Given the description of an element on the screen output the (x, y) to click on. 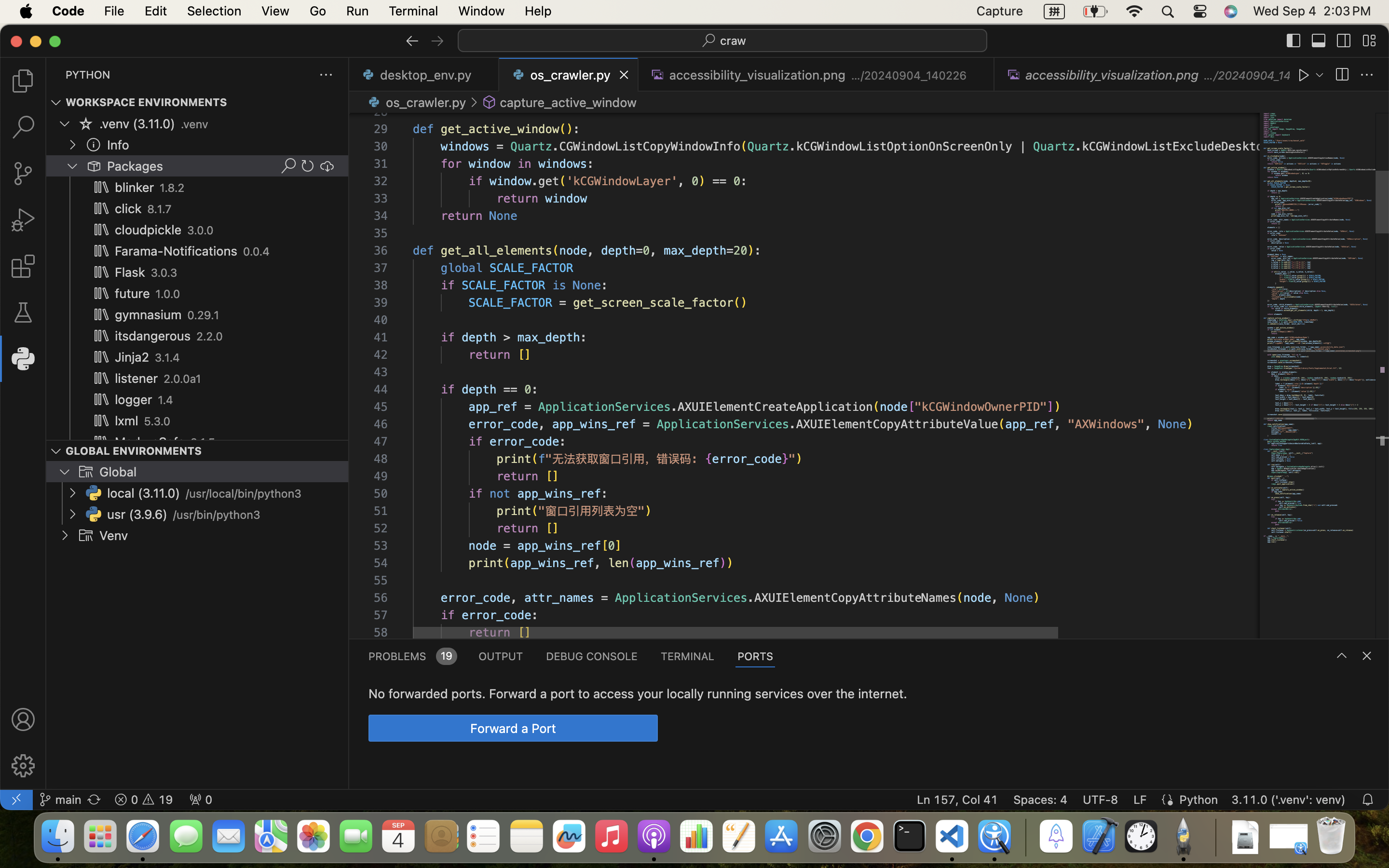
click Element type: AXStaticText (127, 208)
Venv Element type: AXStaticText (113, 535)
 Element type: AXStaticText (55, 451)
WORKSPACE ENVIRONMENTS Element type: AXStaticText (146, 102)
Jinja2 Element type: AXStaticText (131, 357)
